Given the description of an element on the screen output the (x, y) to click on. 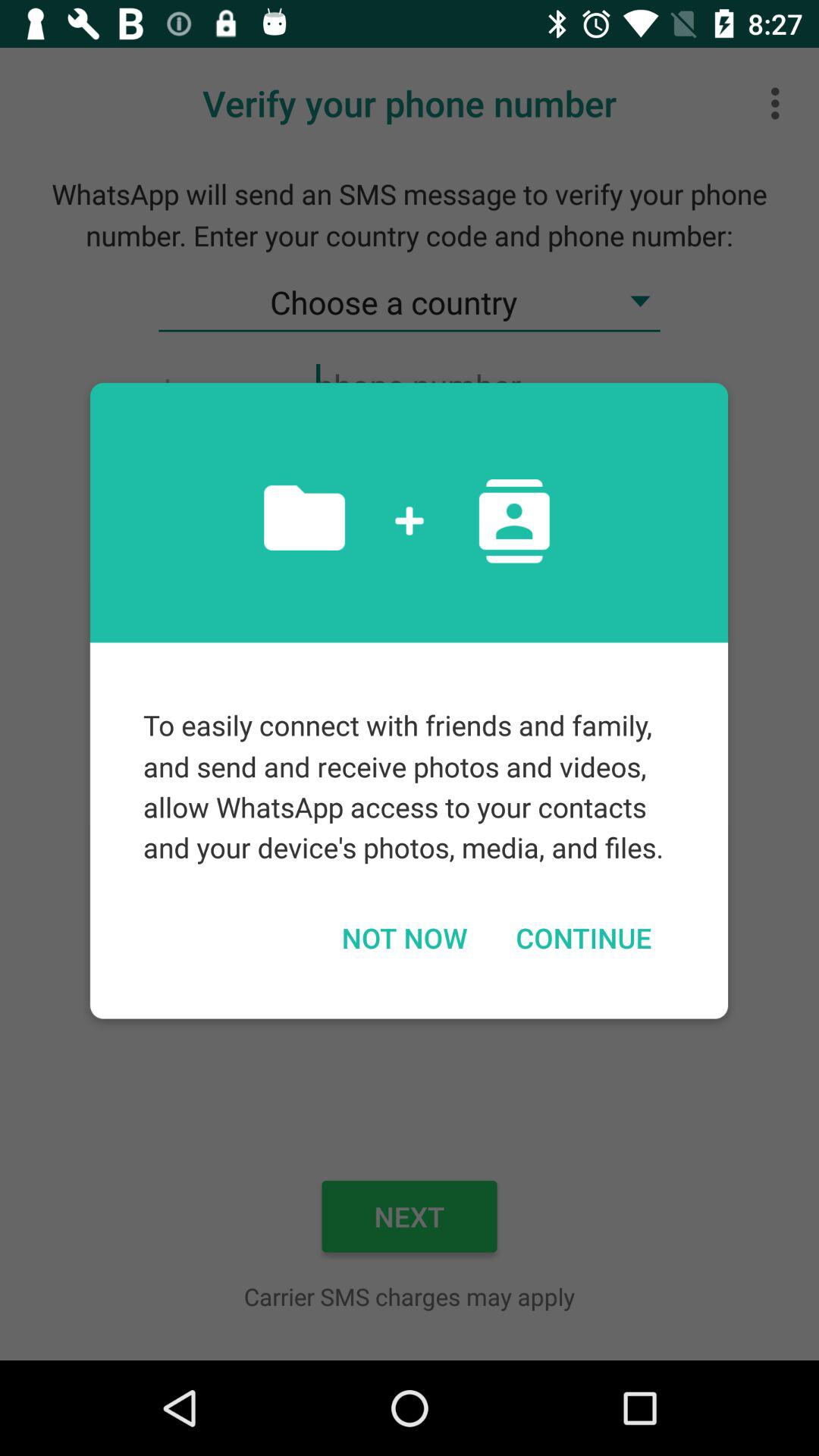
select the icon to the left of continue (403, 937)
